Given the description of an element on the screen output the (x, y) to click on. 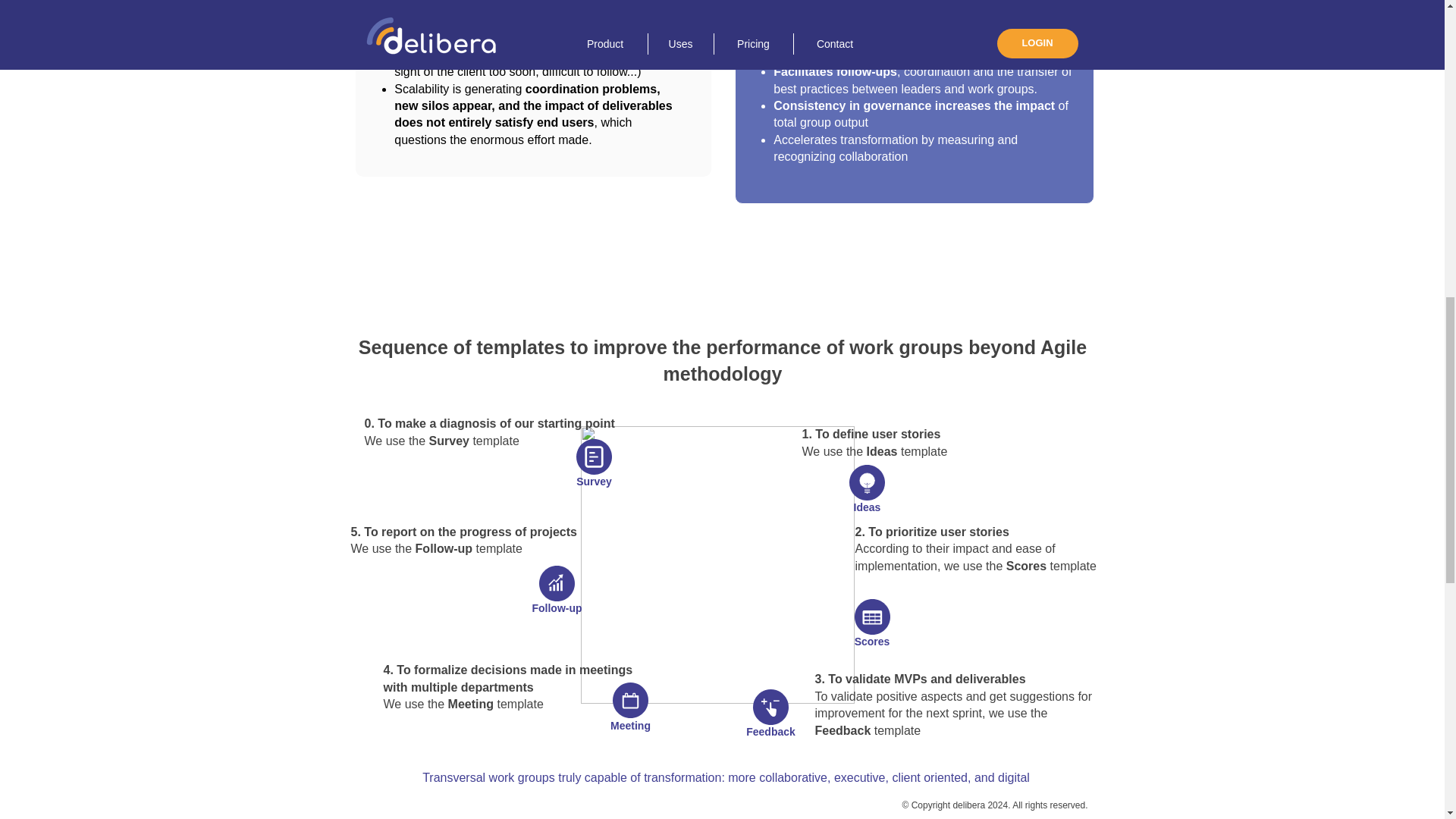
Usos-circulo-Agile.png (717, 564)
